Given the description of an element on the screen output the (x, y) to click on. 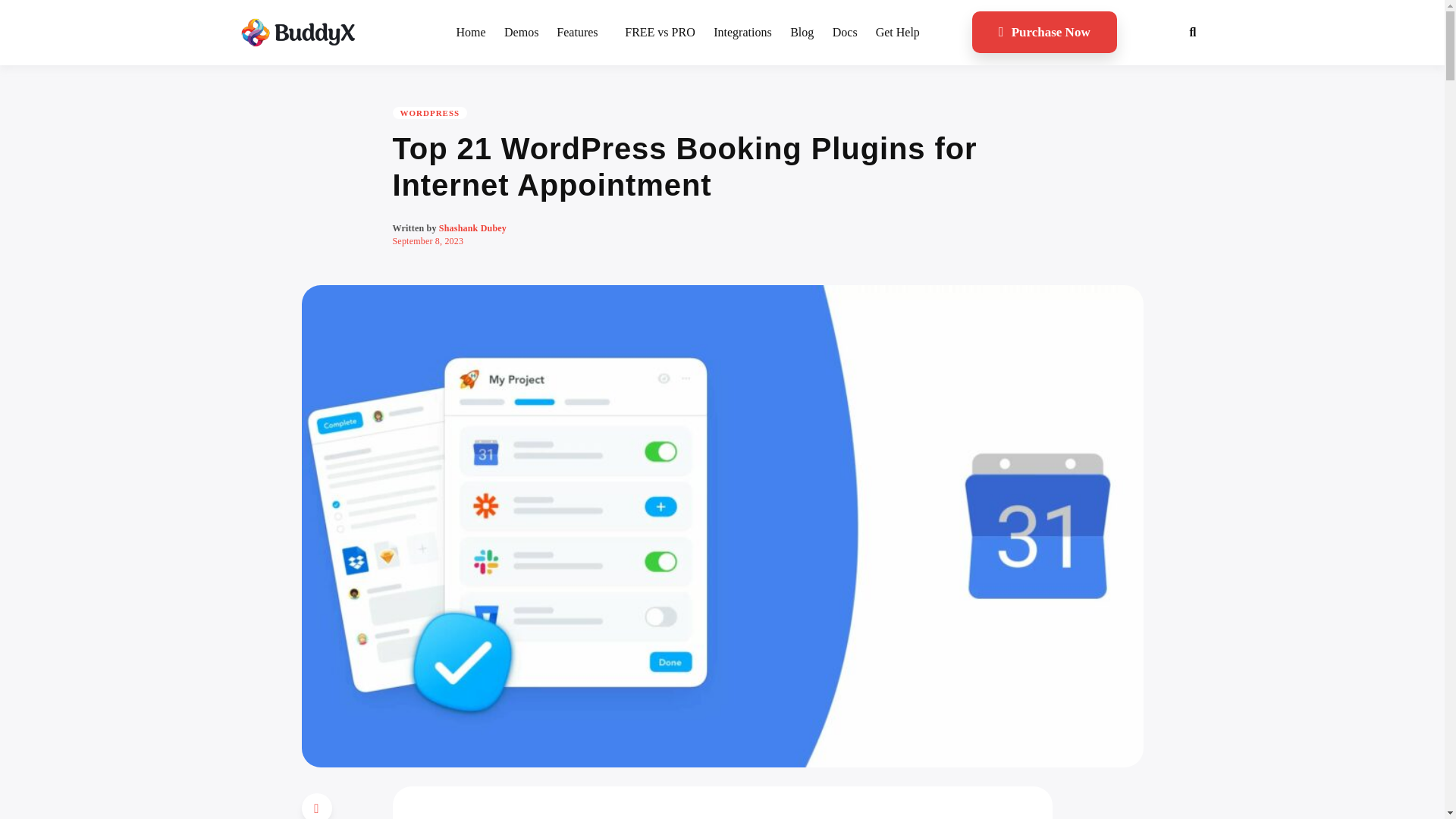
FREE vs PRO (659, 32)
September 8, 2023 (428, 240)
Integrations (742, 32)
WORDPRESS (430, 112)
Shashank Dubey (472, 227)
Go (1186, 59)
Purchase Now (1044, 32)
